Given the description of an element on the screen output the (x, y) to click on. 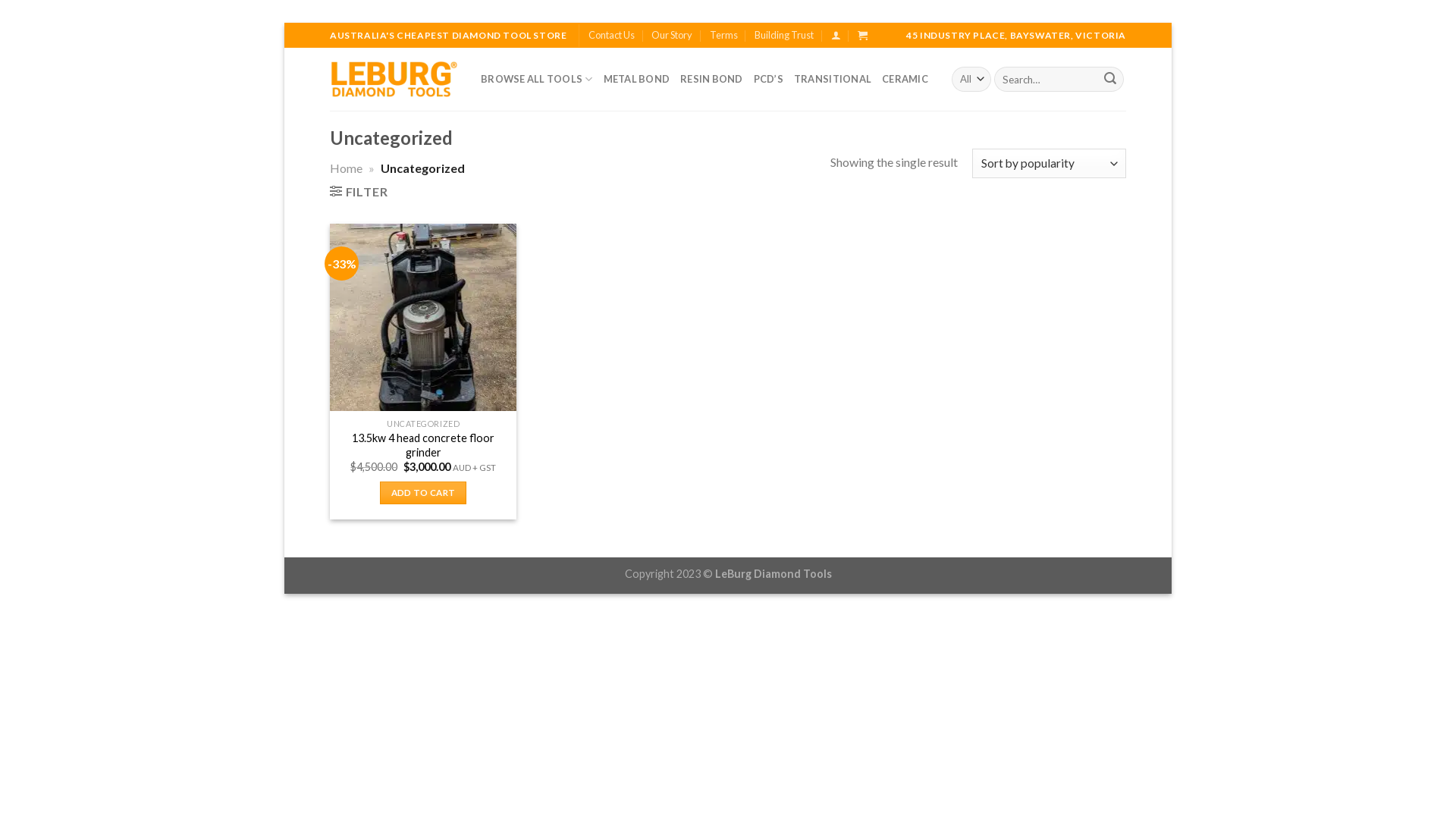
TRANSITIONAL Element type: text (832, 78)
Cart Element type: hover (862, 34)
ADD TO CART Element type: text (422, 492)
Building Trust Element type: text (783, 34)
CERAMIC Element type: text (904, 78)
Skip to content Element type: text (283, 21)
RESIN BOND Element type: text (711, 78)
BROWSE ALL TOOLS Element type: text (536, 78)
METAL BOND Element type: text (636, 78)
Search Element type: text (1110, 79)
Our Story Element type: text (671, 34)
Contact Us Element type: text (611, 34)
Terms Element type: text (723, 34)
LeBurg Diamond Tools Element type: hover (393, 78)
FILTER Element type: text (358, 191)
Home Element type: text (345, 167)
13.5kw 4 head concrete floor grinder Element type: text (423, 445)
